Given the description of an element on the screen output the (x, y) to click on. 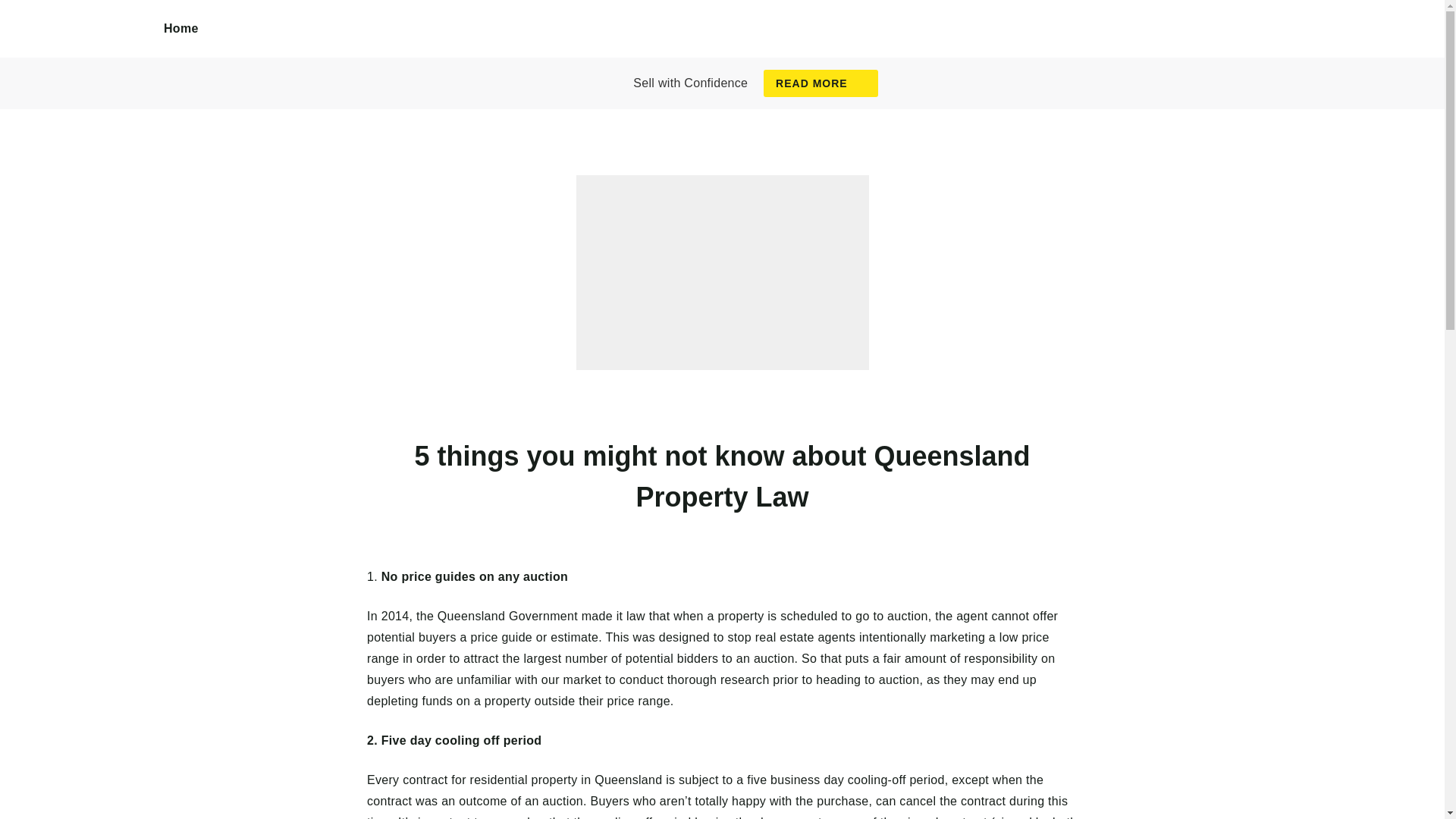
Home (180, 28)
READ MORE (819, 83)
Ray White New Farm (82, 45)
